Given the description of an element on the screen output the (x, y) to click on. 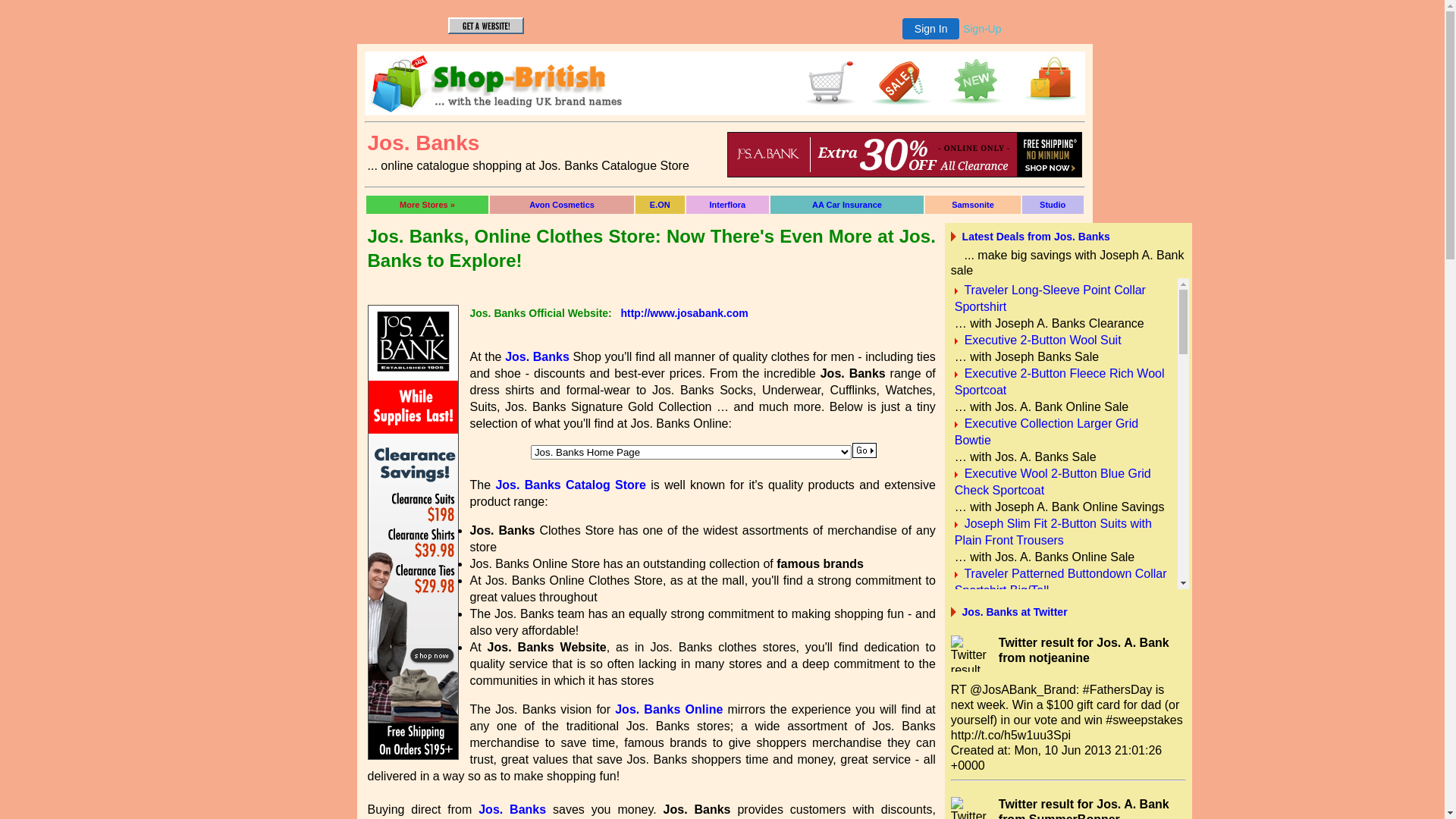
Jos. Banks Online Element type: text (668, 708)
Executive 2-Button Wool Suit Element type: text (1042, 339)
Traveler Tailored Fit Long-Sleeve Point Collar Sportshirt Element type: text (1063, 631)
Jos. Banks Element type: text (512, 809)
Executive 2-Button Fleece Rich Wool Sportcoat Element type: text (1059, 381)
Jos. Banks Element type: text (537, 356)
E.ON Element type: text (659, 204)
VIP Washed Linen Cargo Plain Front Shorts Big/Tall Element type: text (1058, 731)
Executive Wool 2-Button Blue Grid Check Sportcoat Element type: text (1052, 481)
Submit Element type: text (864, 450)
Latest Deals from Jos. Banks Element type: text (1036, 236)
Traveler Long-Sleeve Point Collar Sportshirt Element type: text (1049, 298)
Studio Element type: text (1052, 204)
Shop British Element type: hover (506, 107)
Executive Collection Larger Grid Bowtie Element type: text (1046, 431)
Avon Cosmetics Element type: text (561, 204)
AA Car Insurance Element type: text (846, 204)
Jos. Banks at Twitter Element type: text (1014, 611)
Joseph Slim Fit 2-Button Suits with Plain Front Trousers Element type: text (1052, 531)
Interflora Element type: text (727, 204)
Traveler Patterned Buttondown Collar Sportshirt Big/Tall Element type: text (1060, 581)
Samsonite Element type: text (972, 204)
Sign-Up Element type: text (982, 28)
Sign In Element type: text (931, 28)
Jos. Banks Direct Element type: hover (724, 83)
Jos. Banks Element type: hover (903, 154)
http://www.josabank.com Element type: text (683, 313)
Jos. Banks Catalogue Element type: hover (903, 172)
VIP Linen Point Collar Short-Sleeve Pattern Sportshirt. Element type: text (1055, 681)
Shop British Element type: hover (826, 105)
Jos. Banks Catalog Store Element type: text (570, 484)
